Given the description of an element on the screen output the (x, y) to click on. 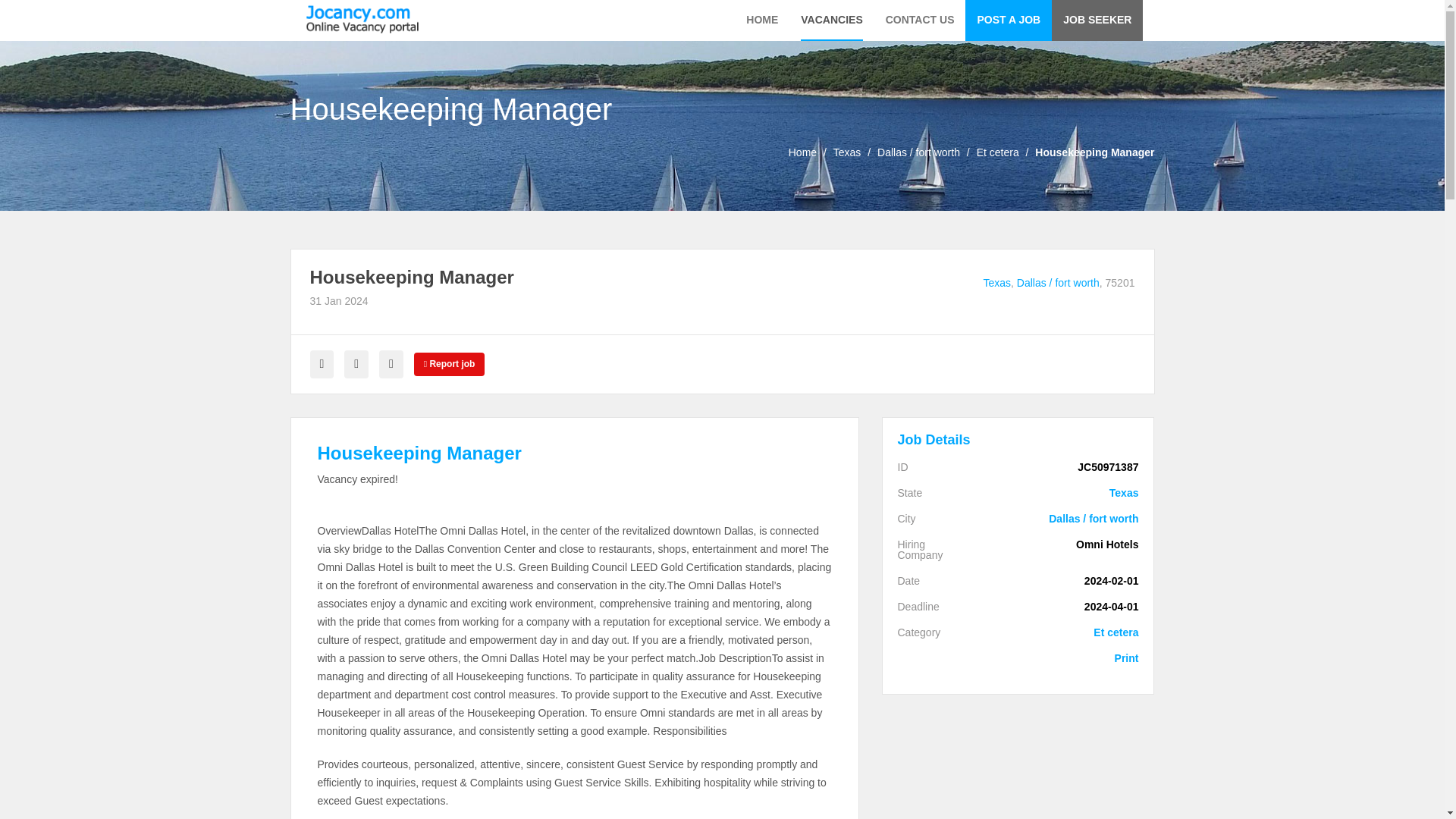
Contact us (920, 20)
POST A JOB (1008, 20)
Texas State jobs (846, 152)
JOB SEEKER (1096, 20)
Jocancy - jocancy.com (362, 19)
Home (802, 152)
Job Seeker (1096, 20)
VACANCIES (830, 20)
Report job (448, 363)
Et cetera (997, 152)
Texas (846, 152)
Post a Job (1008, 20)
CONTACT US (920, 20)
Vacancies (830, 20)
Texas (996, 282)
